Given the description of an element on the screen output the (x, y) to click on. 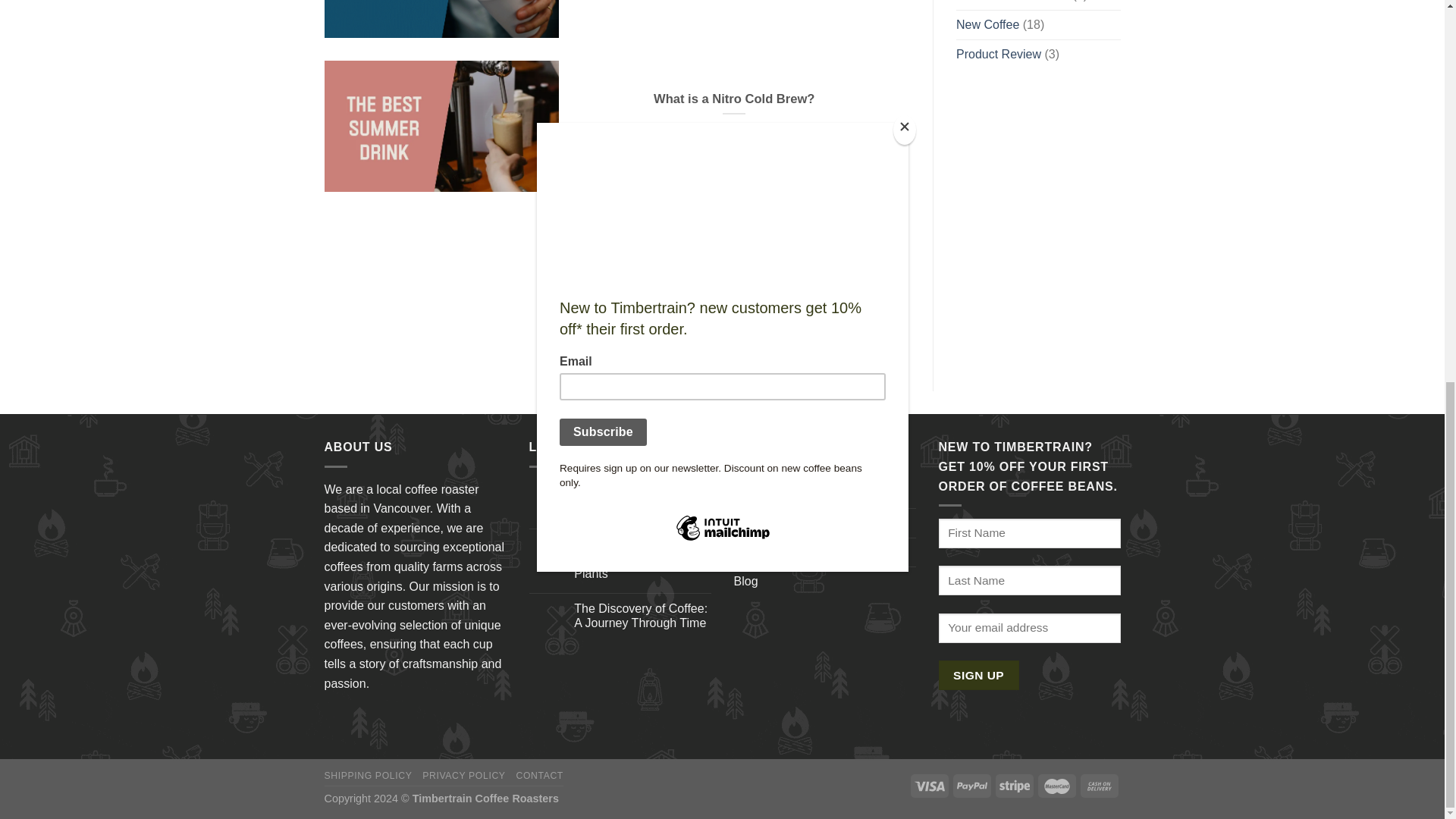
Sign up (979, 675)
Discovering the Different Types of Coffee Drinks (641, 501)
The Discovery of Coffee: A Journey Through Time (641, 615)
The Truth About Using Coffee Grounds for Plants (641, 558)
